Given the description of an element on the screen output the (x, y) to click on. 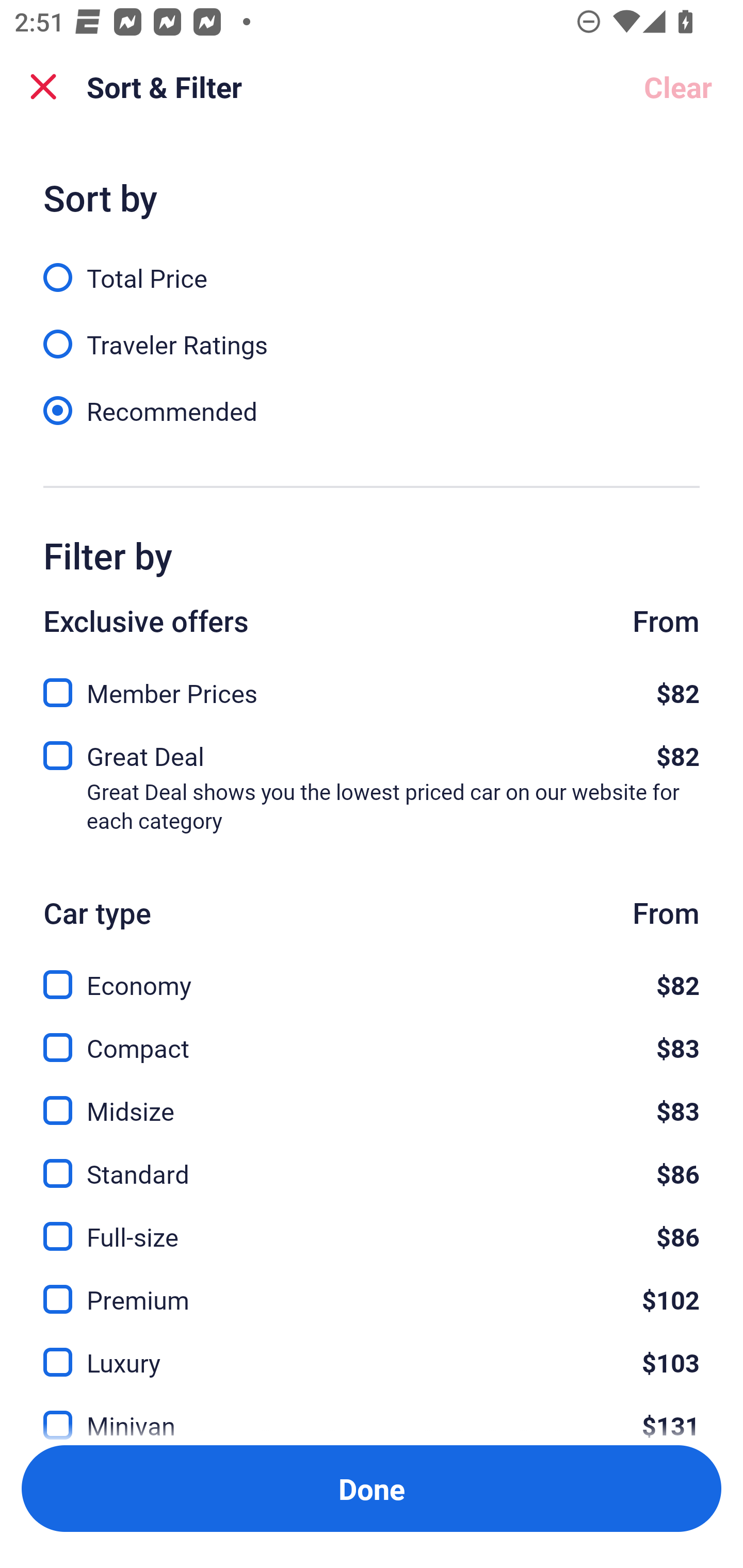
Close Sort and Filter (43, 86)
Clear (677, 86)
Total Price (371, 266)
Traveler Ratings (371, 332)
Member Prices, $82 Member Prices $82 (371, 686)
Economy, $82 Economy $82 (371, 973)
Compact, $83 Compact $83 (371, 1036)
Midsize, $83 Midsize $83 (371, 1098)
Standard, $86 Standard $86 (371, 1161)
Full-size, $86 Full-size $86 (371, 1224)
Premium, $102 Premium $102 (371, 1286)
Luxury, $103 Luxury $103 (371, 1350)
Minivan, $131 Minivan $131 (371, 1413)
Apply and close Sort and Filter Done (371, 1488)
